Given the description of an element on the screen output the (x, y) to click on. 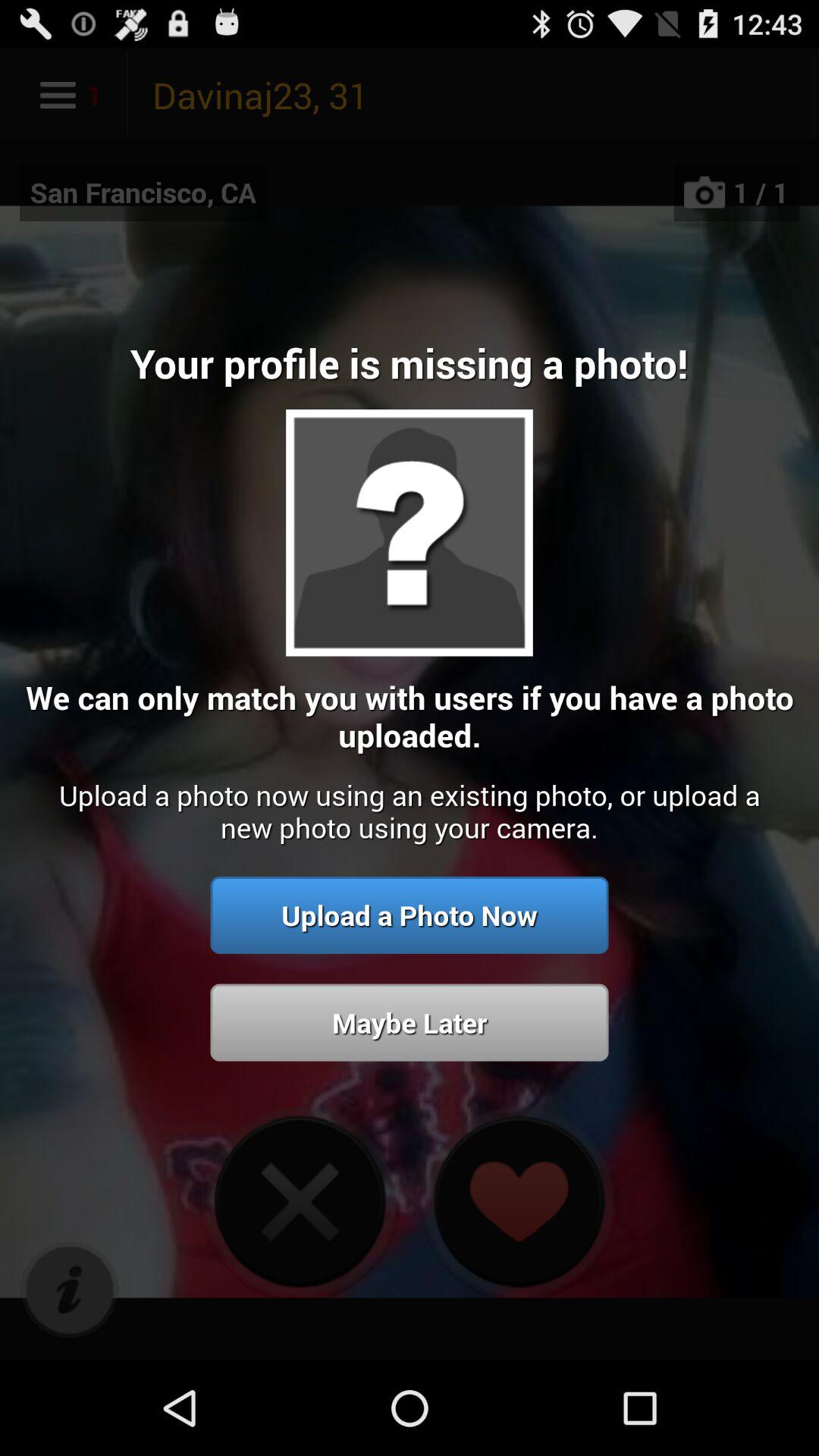
additional information (69, 1290)
